Given the description of an element on the screen output the (x, y) to click on. 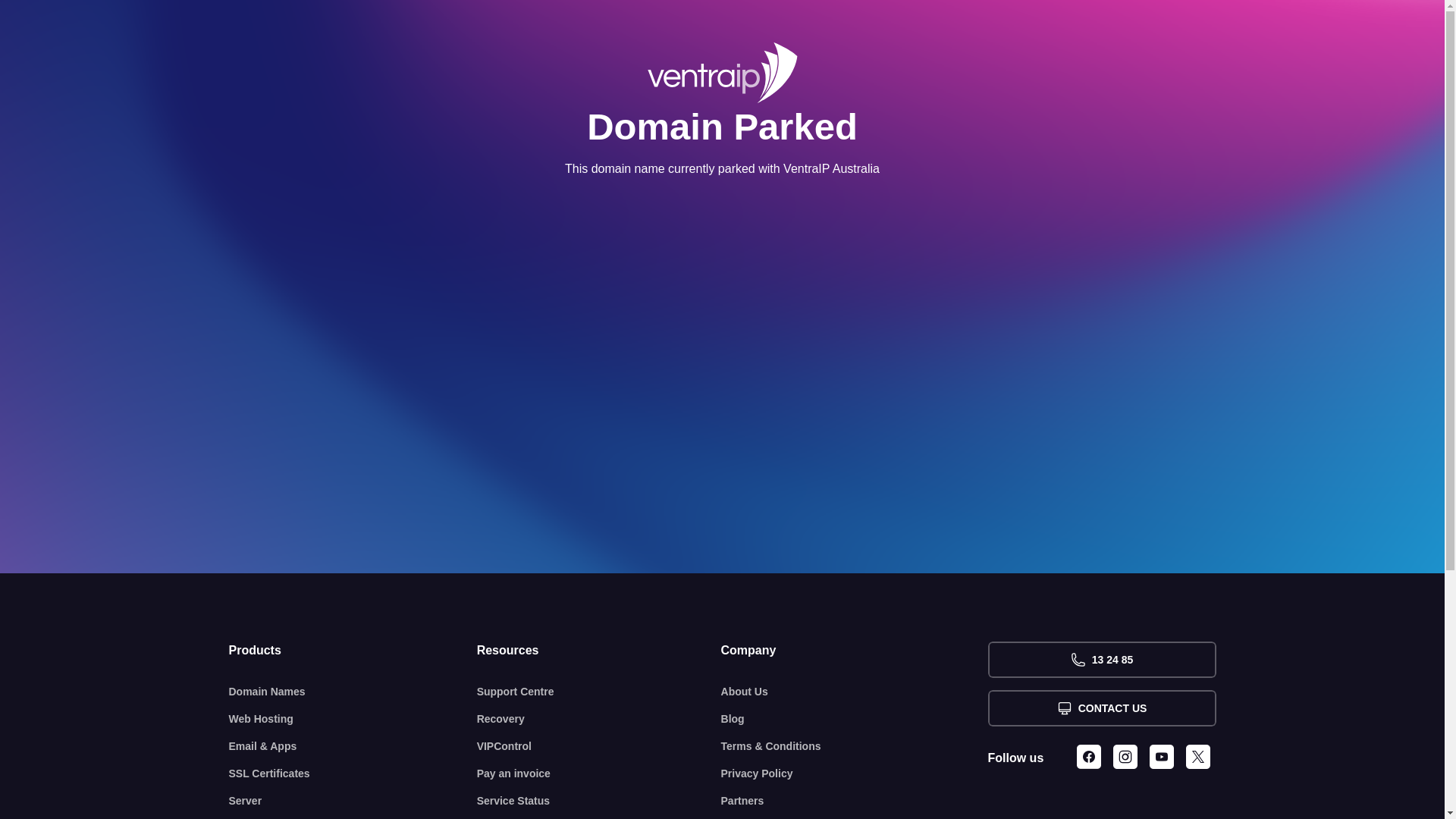
About Us Element type: text (854, 691)
Terms & Conditions Element type: text (854, 745)
Domain Names Element type: text (352, 691)
Web Hosting Element type: text (352, 718)
Blog Element type: text (854, 718)
VIPControl Element type: text (598, 745)
CONTACT US Element type: text (1101, 708)
Pay an invoice Element type: text (598, 773)
Server Element type: text (352, 800)
Privacy Policy Element type: text (854, 773)
13 24 85 Element type: text (1101, 659)
Email & Apps Element type: text (352, 745)
Recovery Element type: text (598, 718)
Support Centre Element type: text (598, 691)
Service Status Element type: text (598, 800)
Partners Element type: text (854, 800)
SSL Certificates Element type: text (352, 773)
